Given the description of an element on the screen output the (x, y) to click on. 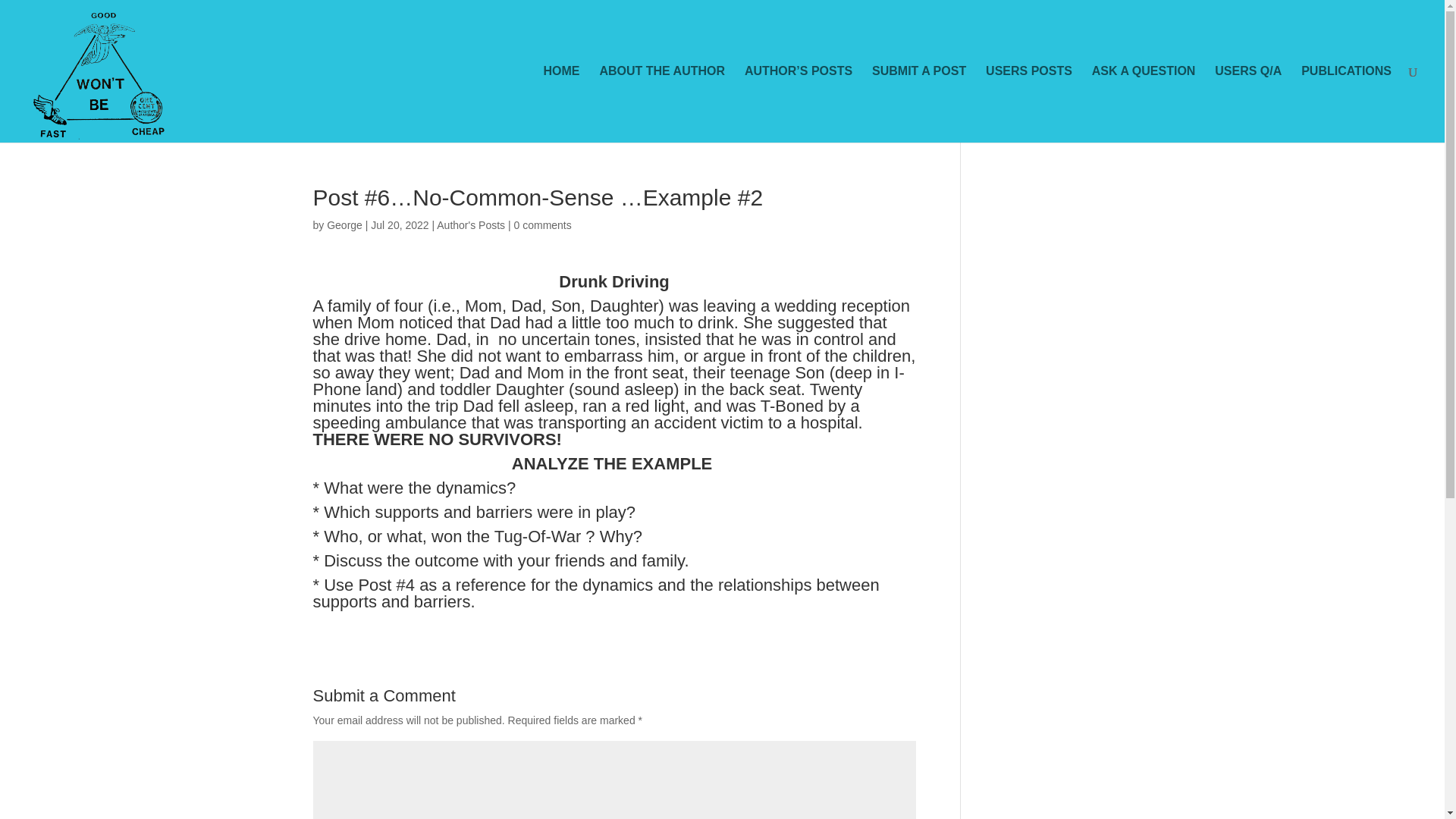
ASK A QUESTION (1143, 104)
ABOUT THE AUTHOR (661, 104)
Author's Posts (470, 224)
SUBMIT A POST (919, 104)
Posts by George (344, 224)
George (344, 224)
HOME (561, 104)
USERS POSTS (1028, 104)
PUBLICATIONS (1346, 104)
0 comments (542, 224)
